Given the description of an element on the screen output the (x, y) to click on. 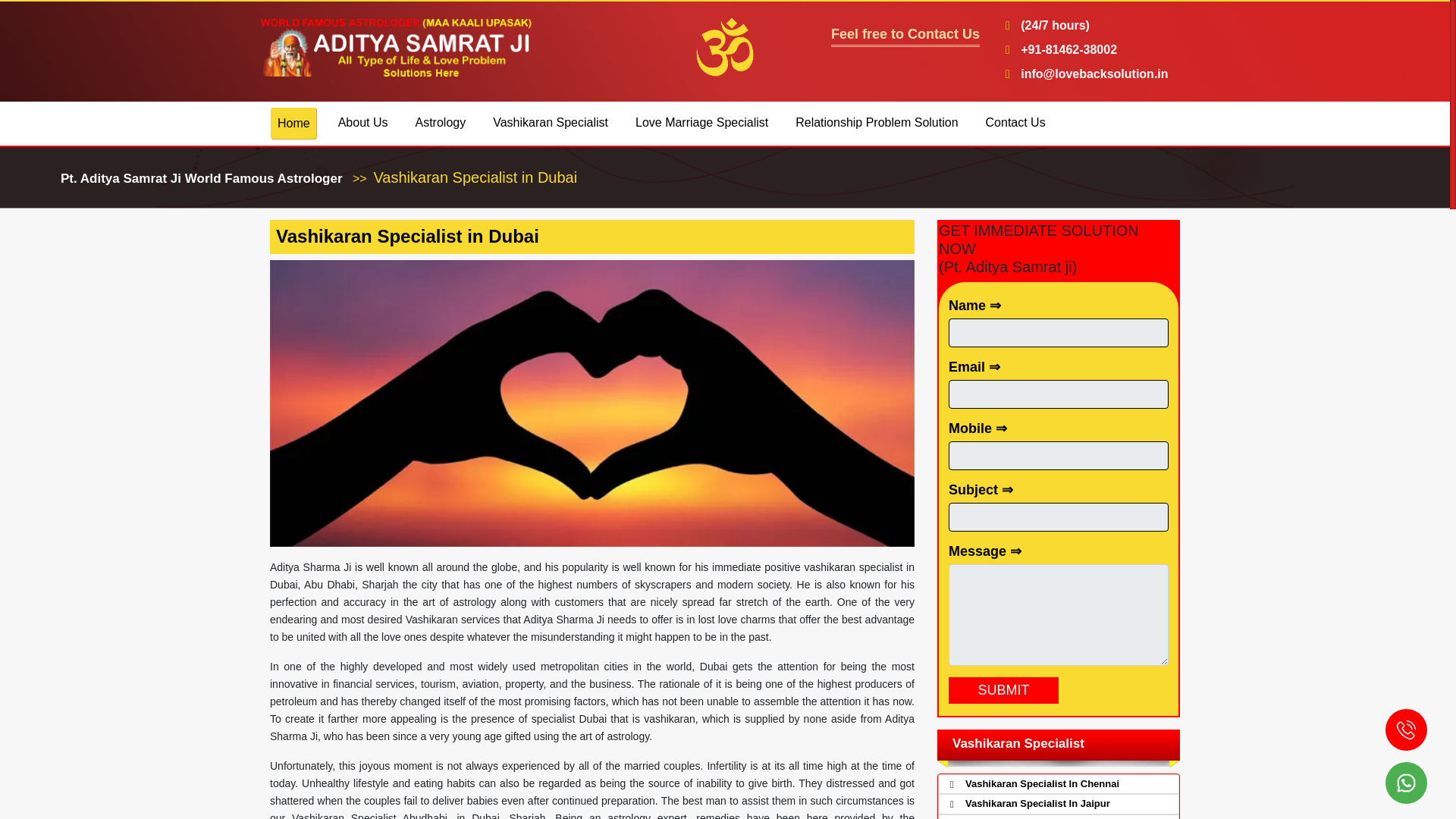
Vashikaran Specialist (550, 122)
Home (293, 123)
Love Marriage Specialist (701, 122)
Submit (1003, 690)
Relationship Problem Solution (876, 122)
Astrology (440, 122)
Contact Us (1015, 122)
Pt. Aditya Samrat Ji World Famous Astrologer (201, 178)
About Us (362, 122)
